Given the description of an element on the screen output the (x, y) to click on. 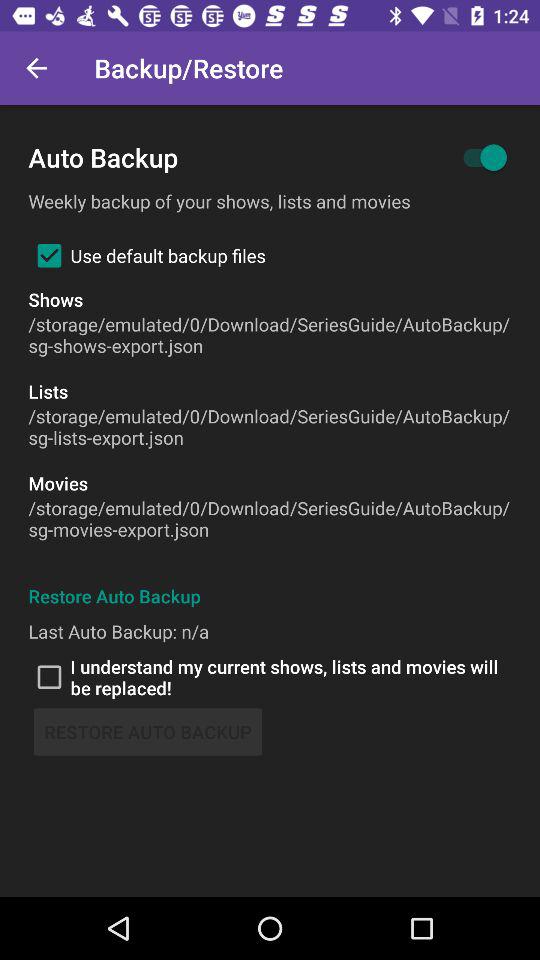
swipe to the i understand my item (269, 677)
